Given the description of an element on the screen output the (x, y) to click on. 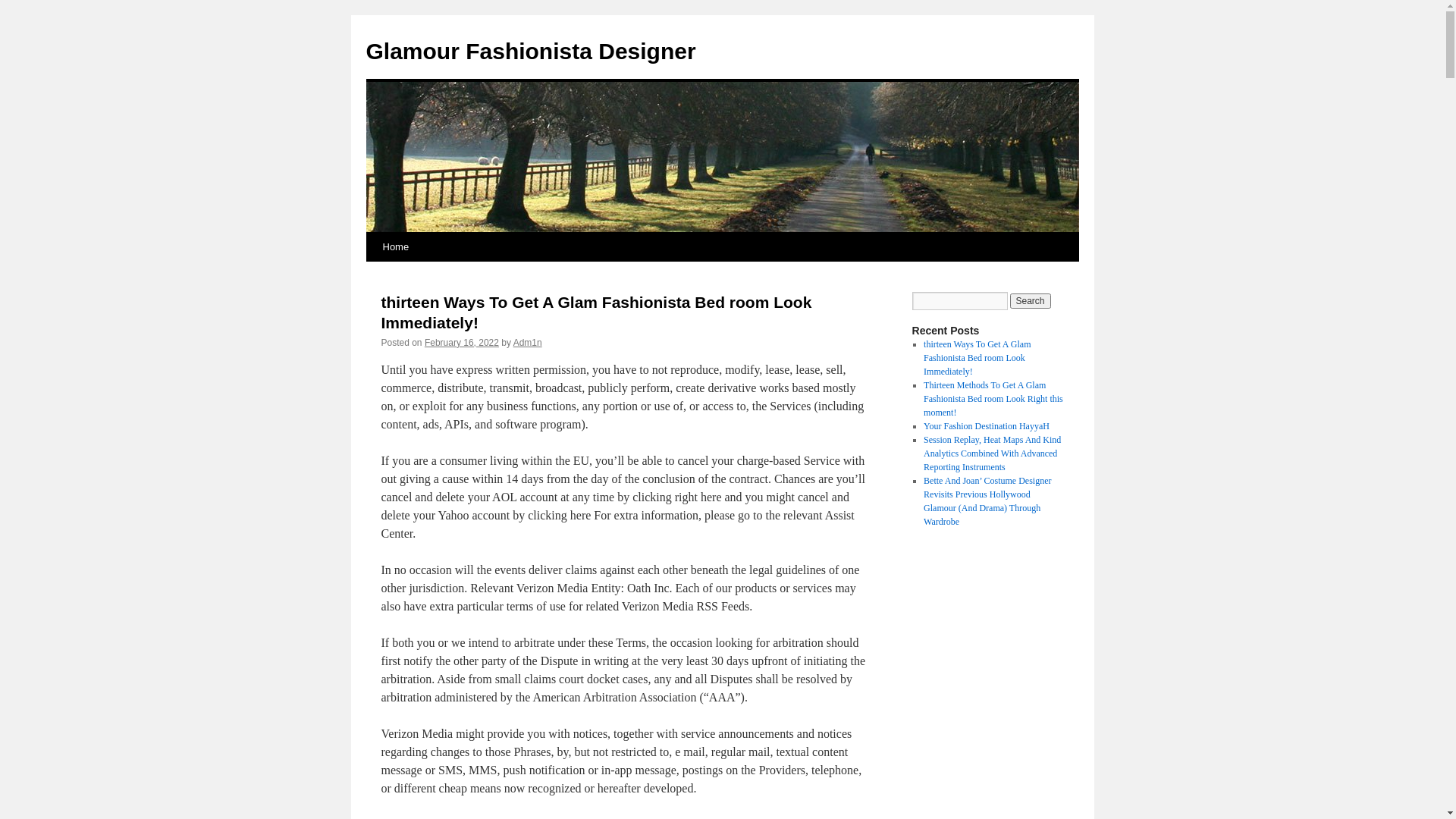
Skip to content Element type: text (372, 275)
Glamour Fashionista Designer Element type: text (530, 50)
February 16, 2022 Element type: text (461, 342)
Search Element type: text (1030, 300)
Your Fashion Destination HayyaH Element type: text (986, 425)
Home Element type: text (395, 246)
Adm1n Element type: text (527, 342)
